Given the description of an element on the screen output the (x, y) to click on. 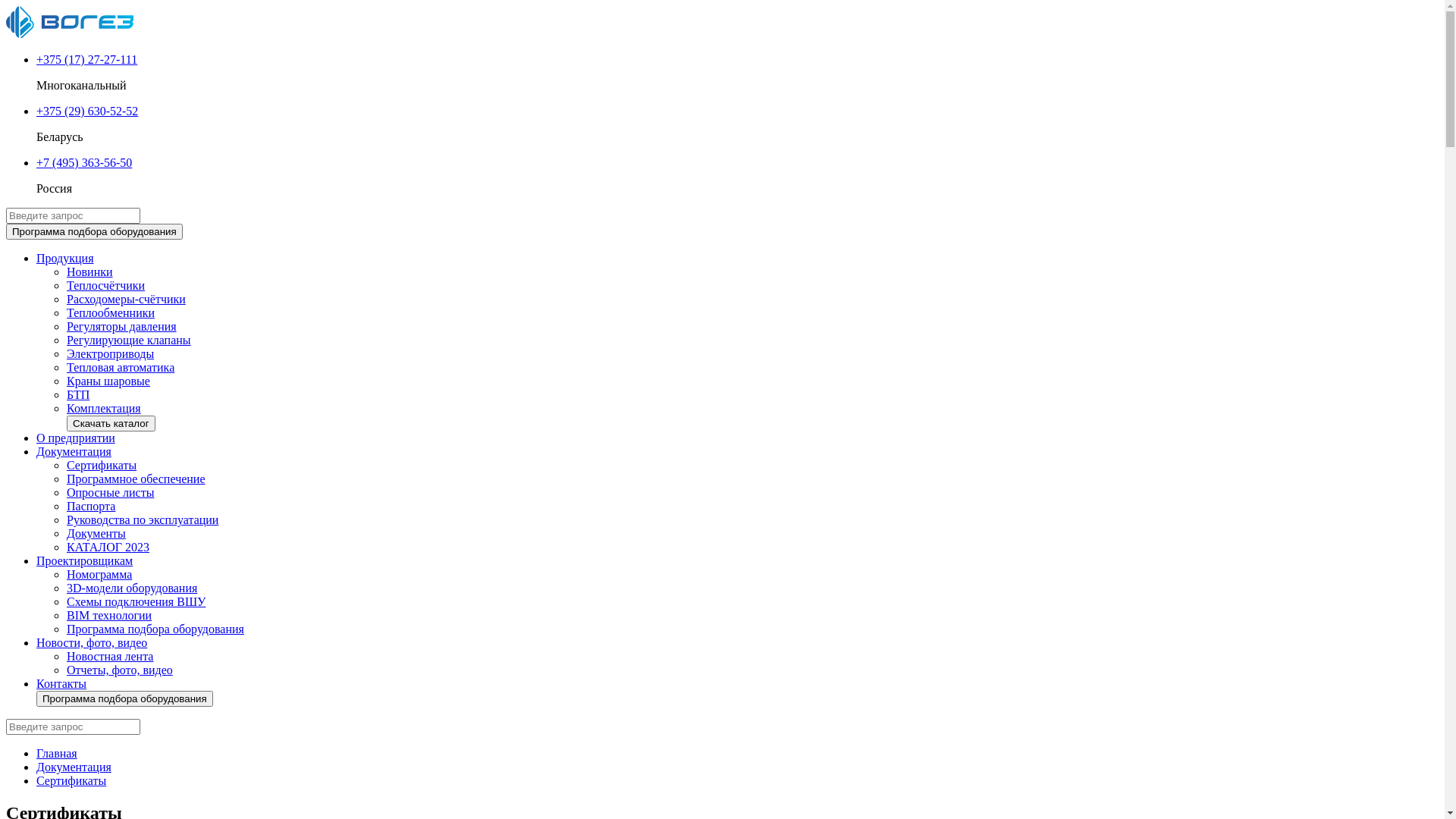
+7 (495) 363-56-50 Element type: text (83, 162)
+375 (17) 27-27-111 Element type: text (86, 59)
+375 (29) 630-52-52 Element type: text (87, 110)
